Given the description of an element on the screen output the (x, y) to click on. 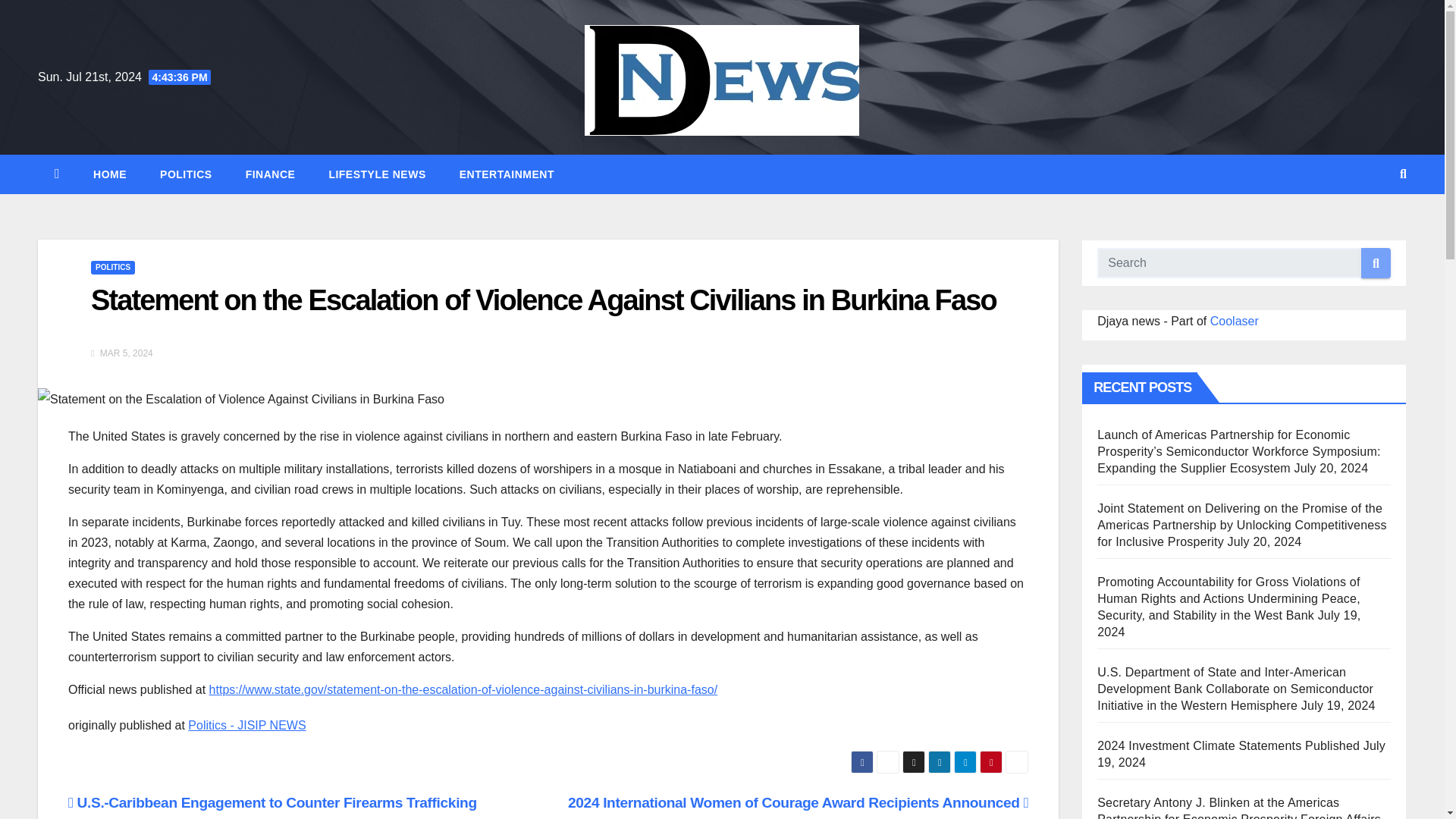
Finance (270, 174)
POLITICS (112, 267)
2024 Investment Climate Statements Published (1228, 745)
HOME (109, 174)
Lifestyle News (376, 174)
Coolaser (1234, 320)
Politics - JISIP NEWS (246, 725)
ENTERTAINMENT (506, 174)
POLITICS (185, 174)
U.S.-Caribbean Engagement to Counter Firearms Trafficking (272, 802)
LIFESTYLE NEWS (376, 174)
